Given the description of an element on the screen output the (x, y) to click on. 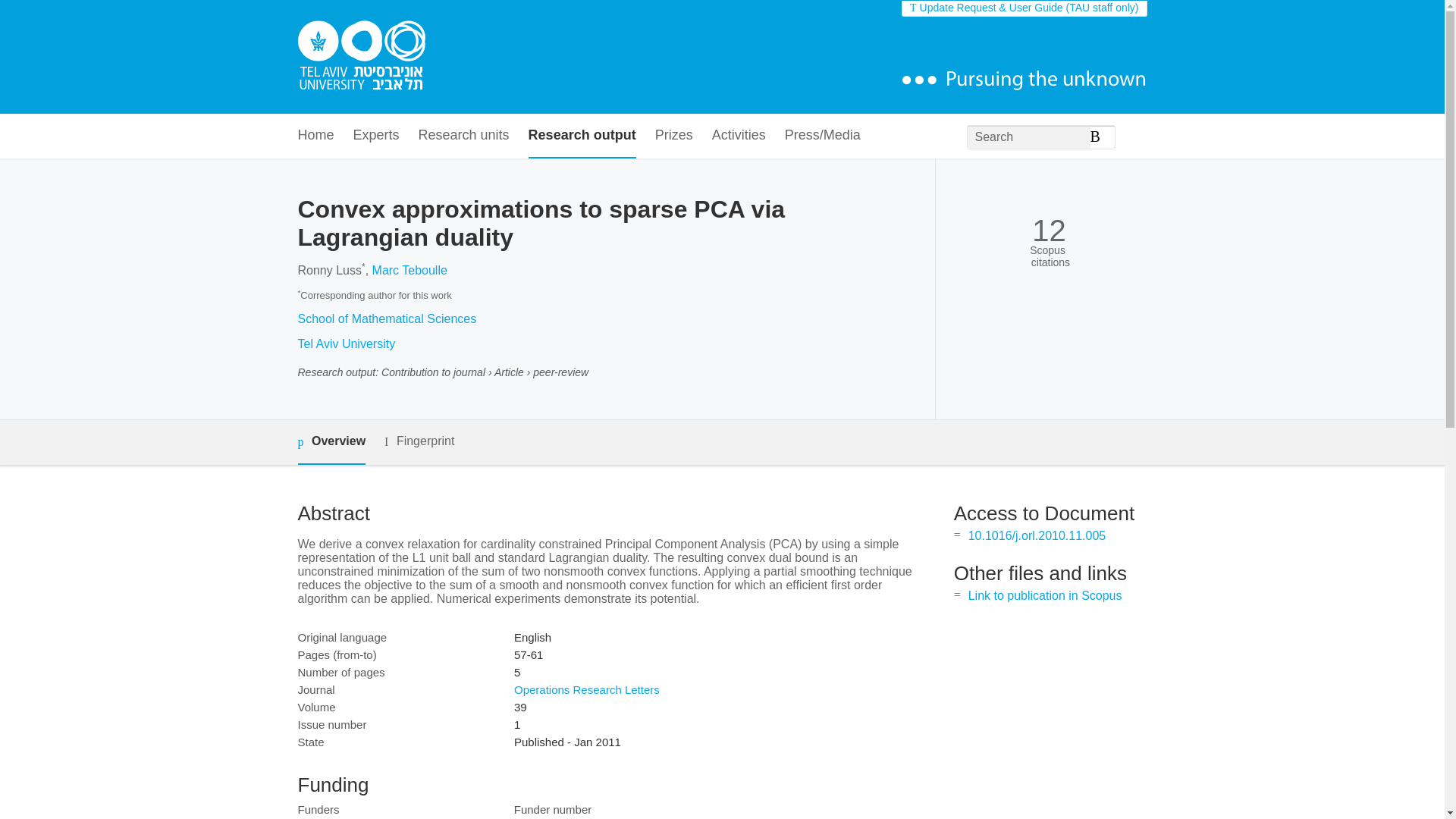
Operations Research Letters (586, 689)
Experts (375, 135)
Overview (331, 442)
Tel Aviv University Home (361, 56)
Research output (582, 135)
Marc Teboulle (409, 269)
Activities (738, 135)
Link to publication in Scopus (1045, 594)
School of Mathematical Sciences (386, 318)
Fingerprint (419, 441)
Research units (464, 135)
Tel Aviv University (345, 343)
